Given the description of an element on the screen output the (x, y) to click on. 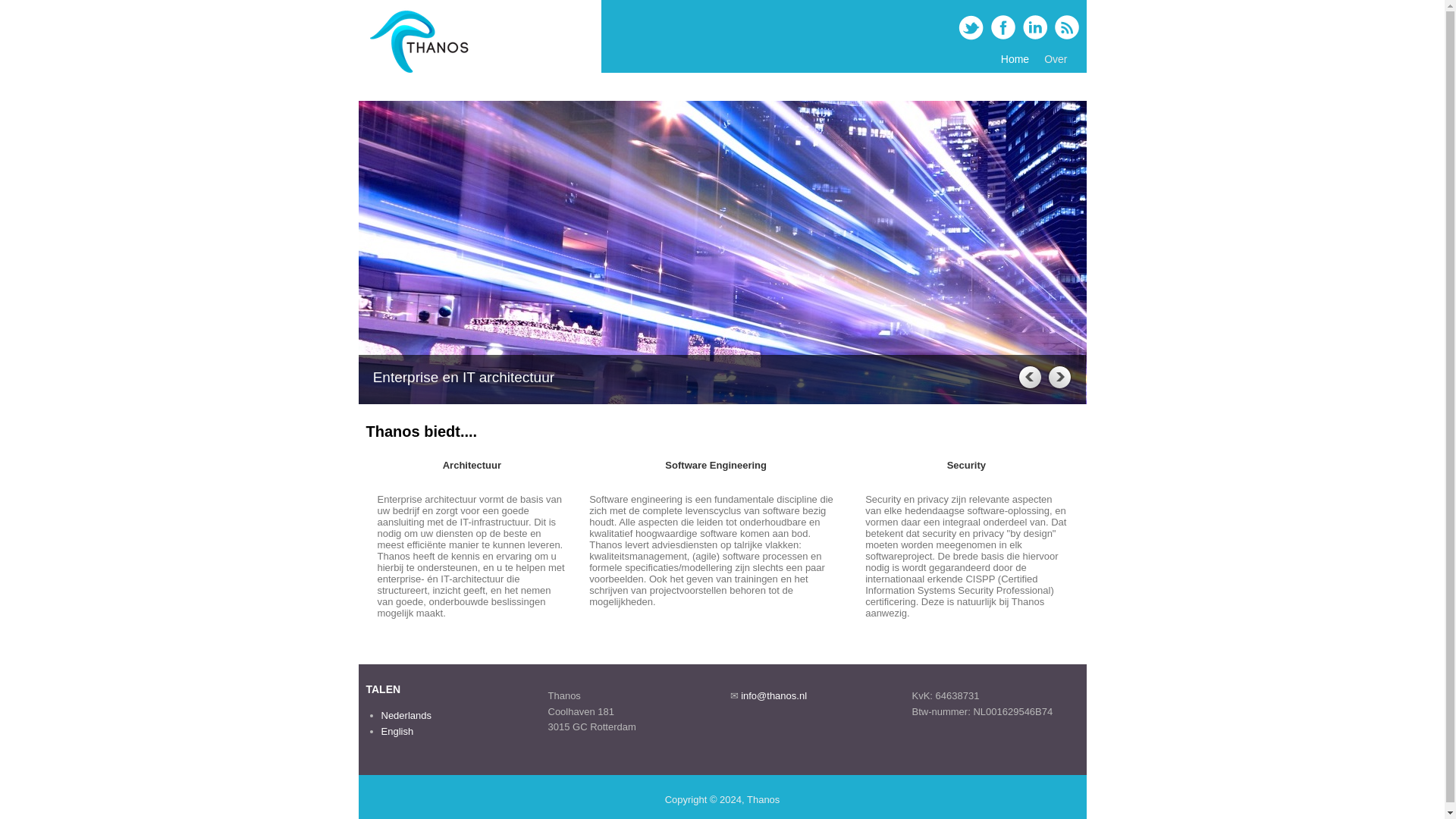
Nederlands (405, 715)
English (396, 731)
Previous (1028, 376)
Home (1014, 58)
Home (418, 71)
Over (1055, 58)
Over Thanos (1055, 58)
Next (1058, 376)
